Given the description of an element on the screen output the (x, y) to click on. 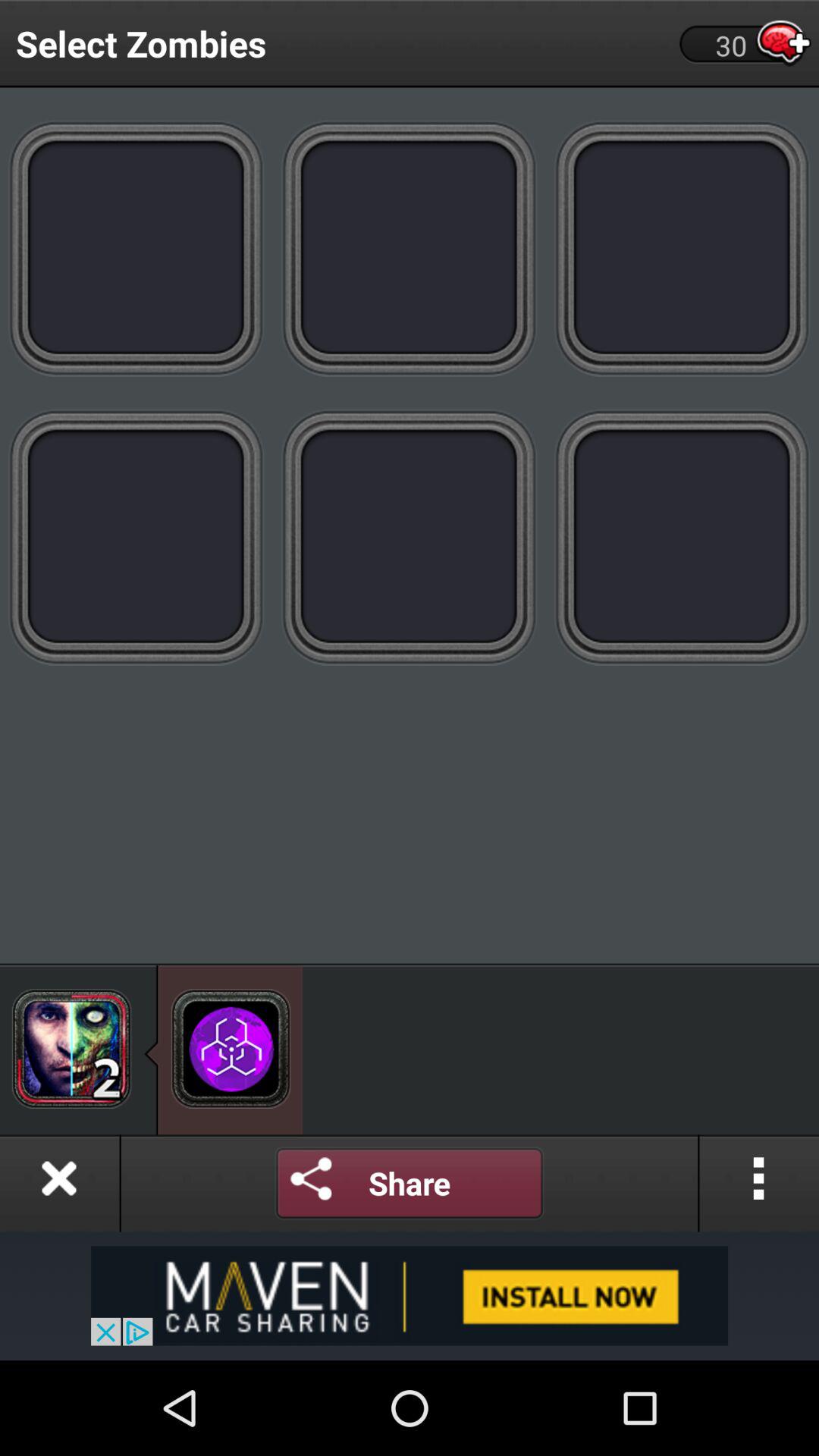
share (409, 1183)
